Given the description of an element on the screen output the (x, y) to click on. 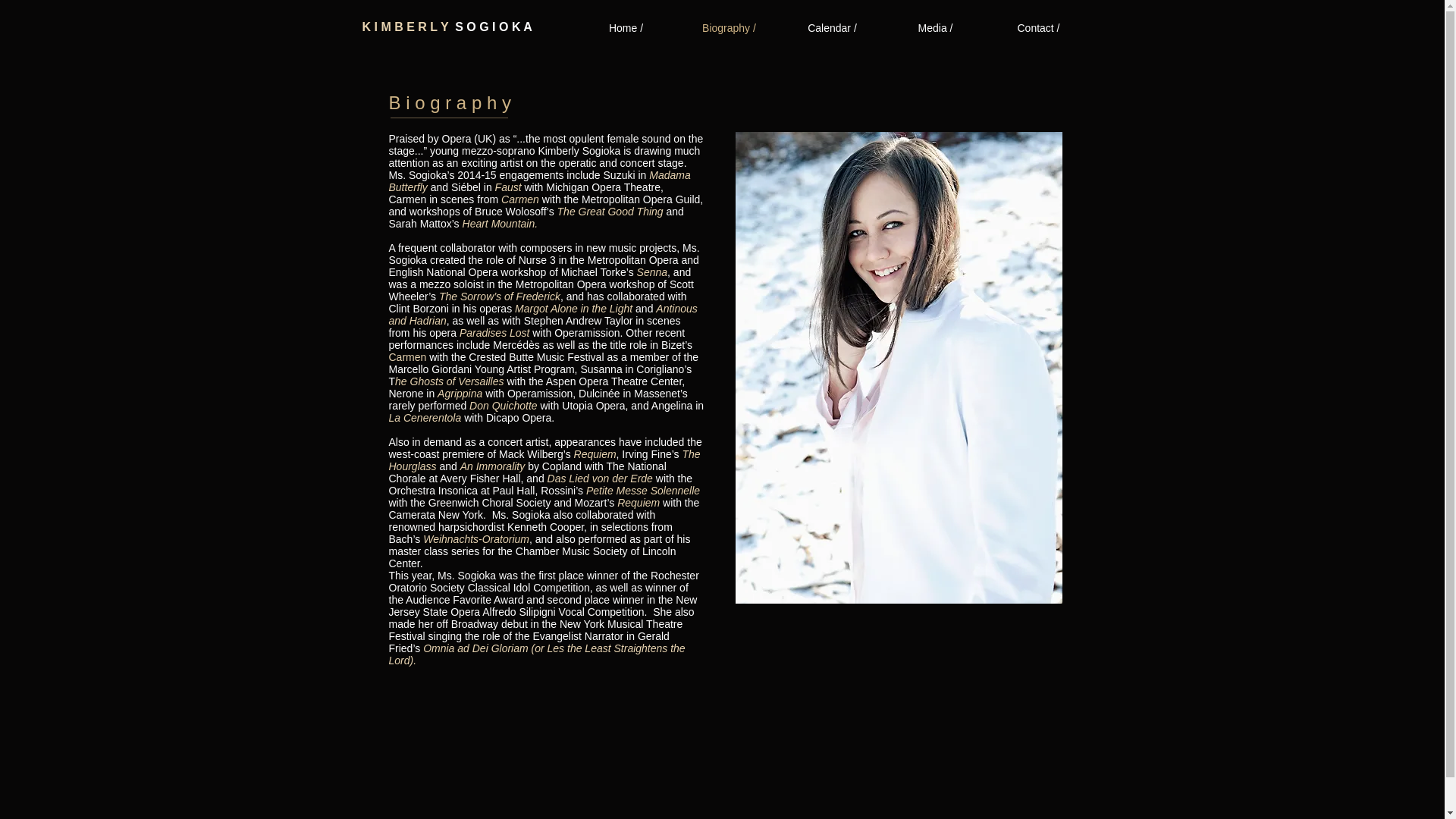
K I M B E R L Y  (408, 26)
S O G I O K A (493, 26)
